Given the description of an element on the screen output the (x, y) to click on. 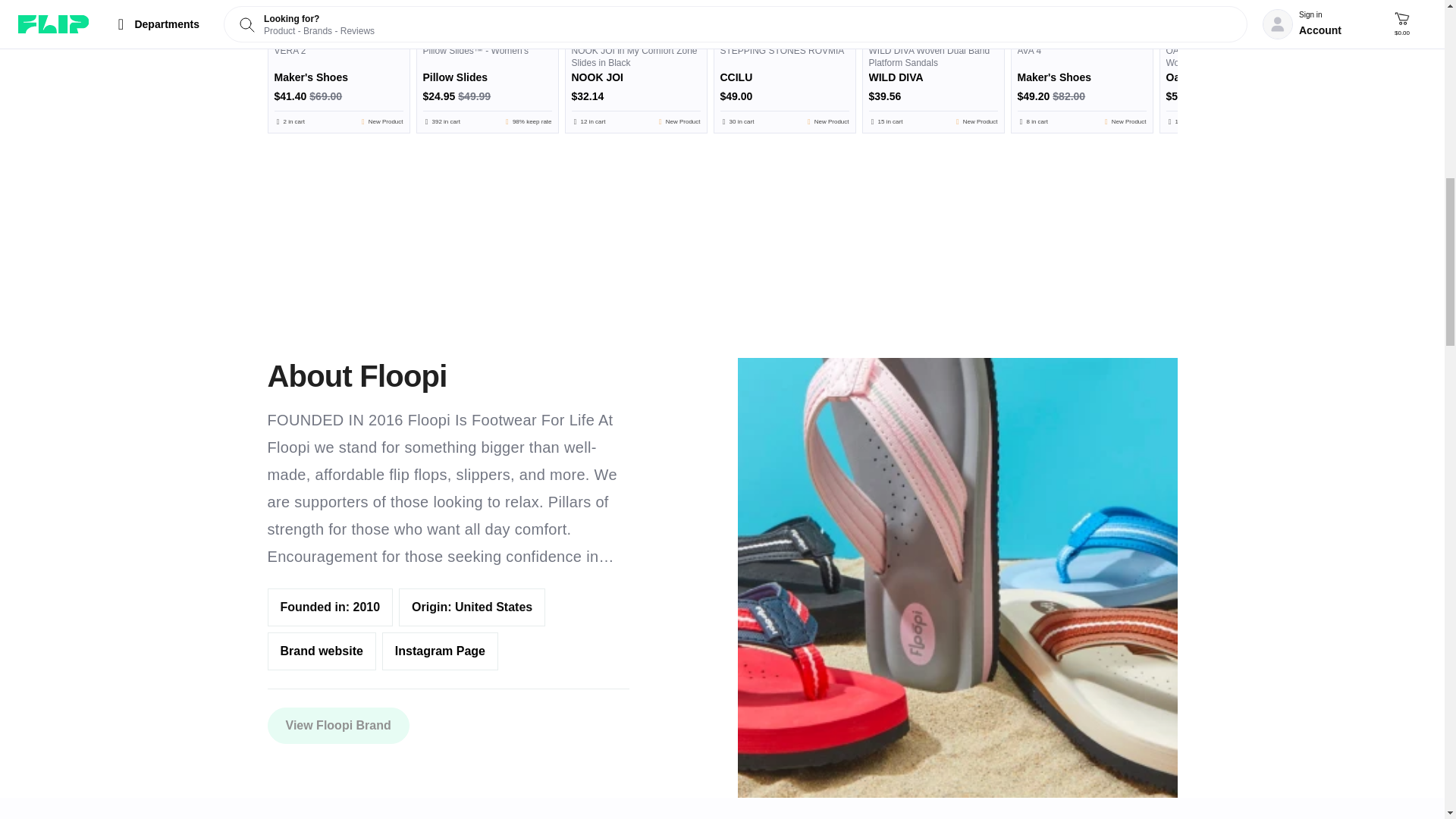
NOOK JOI NOOK JOI in My Comfort Zone Slides in Black (636, 18)
CCILU STEPPING STONES ROVMIA (785, 18)
STEPPING STONES ROVMIA (785, 84)
VERA 2 (338, 84)
Maker's Shoes VERA 2 (338, 18)
NOOK JOI in My Comfort Zone Slides in Black (636, 84)
